Given the description of an element on the screen output the (x, y) to click on. 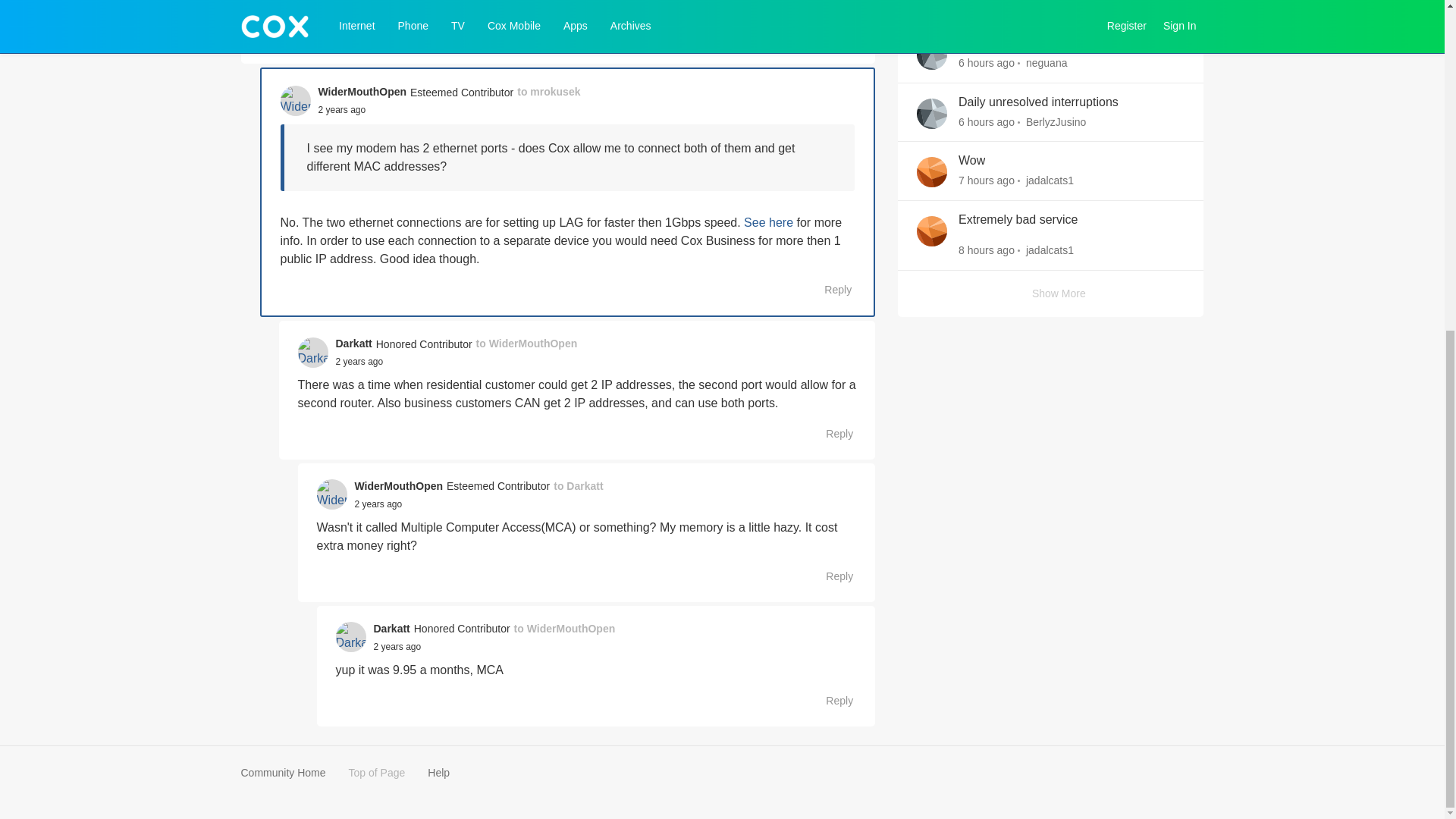
to mrokusek (547, 91)
June 9, 2023 at 1:34 PM (396, 646)
WiderMouthOpen (362, 91)
Reply (831, 38)
June 9, 2023 at 1:26 PM (379, 503)
June 9, 2023 at 5:14 AM (342, 109)
June 9, 2023 at 1:22 PM (358, 361)
Split Band toggle switch missing (1045, 43)
August 21, 2024 at 9:00 PM (986, 4)
